Given the description of an element on the screen output the (x, y) to click on. 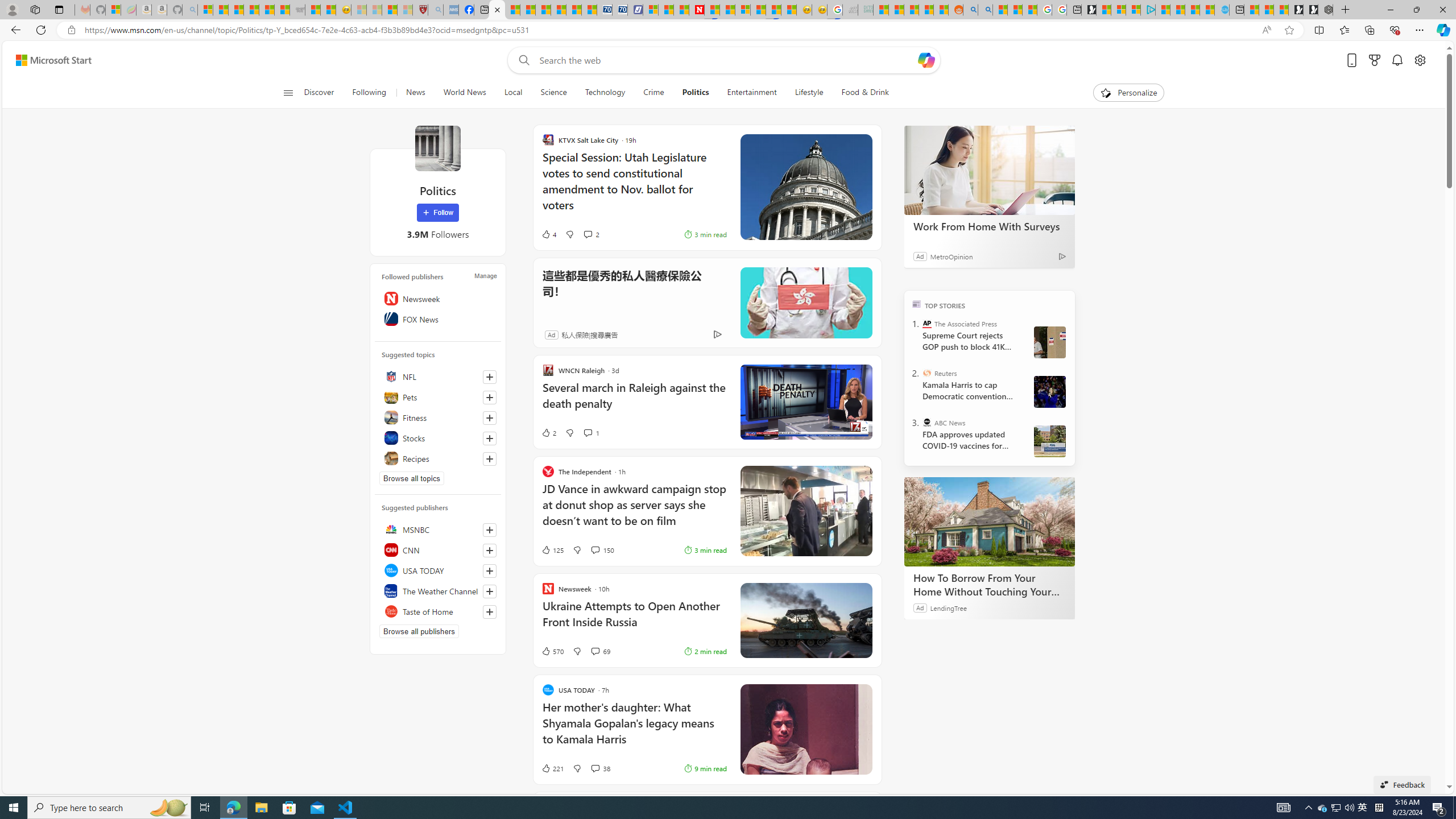
MSNBC (437, 529)
Ukraine Attempts to Open Another Front Inside Russia (633, 619)
Class: hero-image (805, 401)
Several march in Raleigh against the death penalty (633, 401)
Politics - MSN (496, 9)
